Given the description of an element on the screen output the (x, y) to click on. 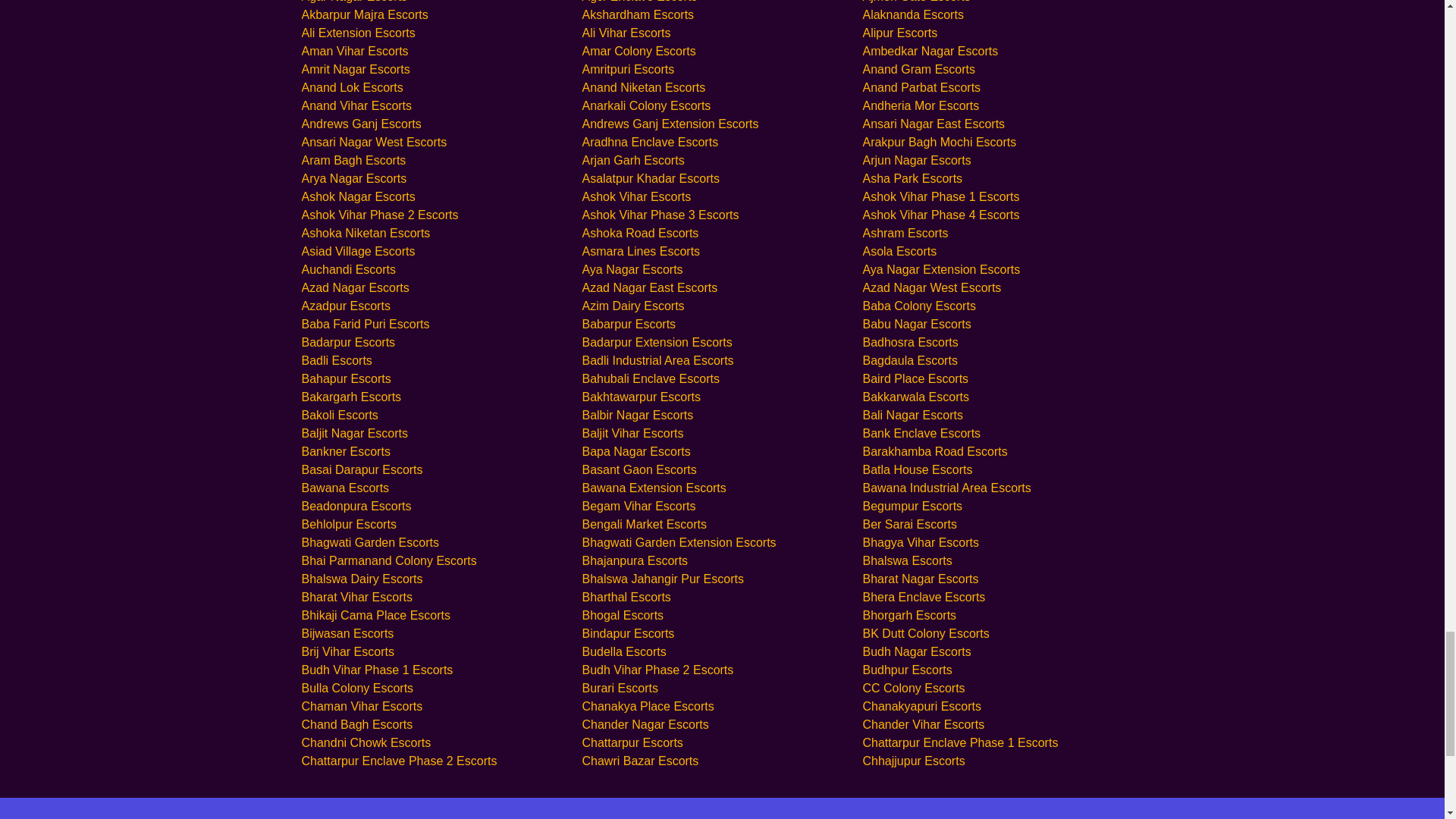
Akshardham Escorts (637, 14)
Ajmeri Gate Escorts (915, 1)
Ajmeri Gate Escorts (915, 1)
Aman Vihar Escorts (355, 51)
Ali Extension Escorts (357, 32)
Amar Colony Escorts (637, 51)
Alaknanda Escorts (911, 14)
Alipur Escorts (899, 32)
Amar Colony Escorts (637, 51)
Akbarpur Majra Escorts (364, 14)
